Given the description of an element on the screen output the (x, y) to click on. 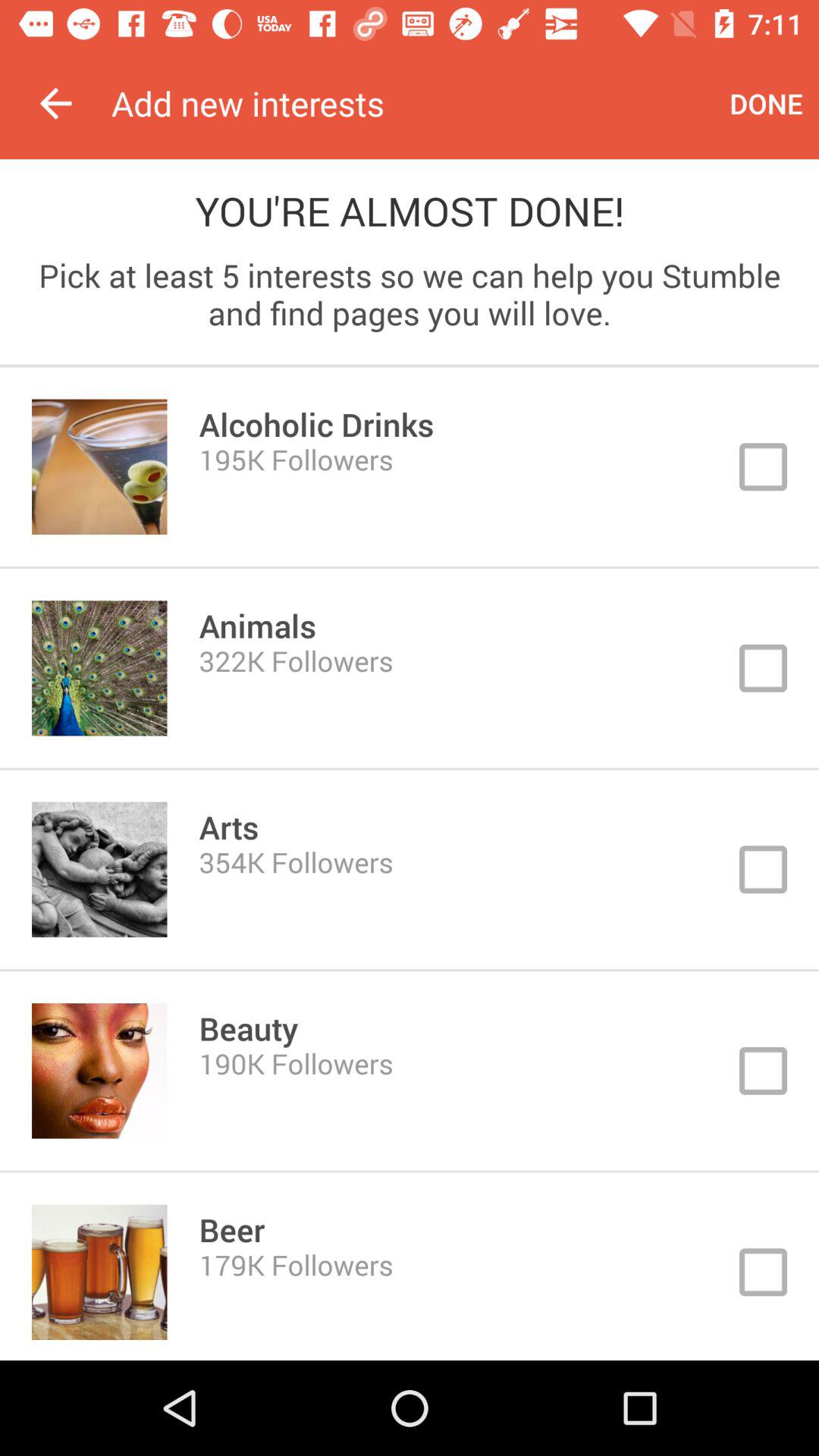
select option button (409, 1070)
